Given the description of an element on the screen output the (x, y) to click on. 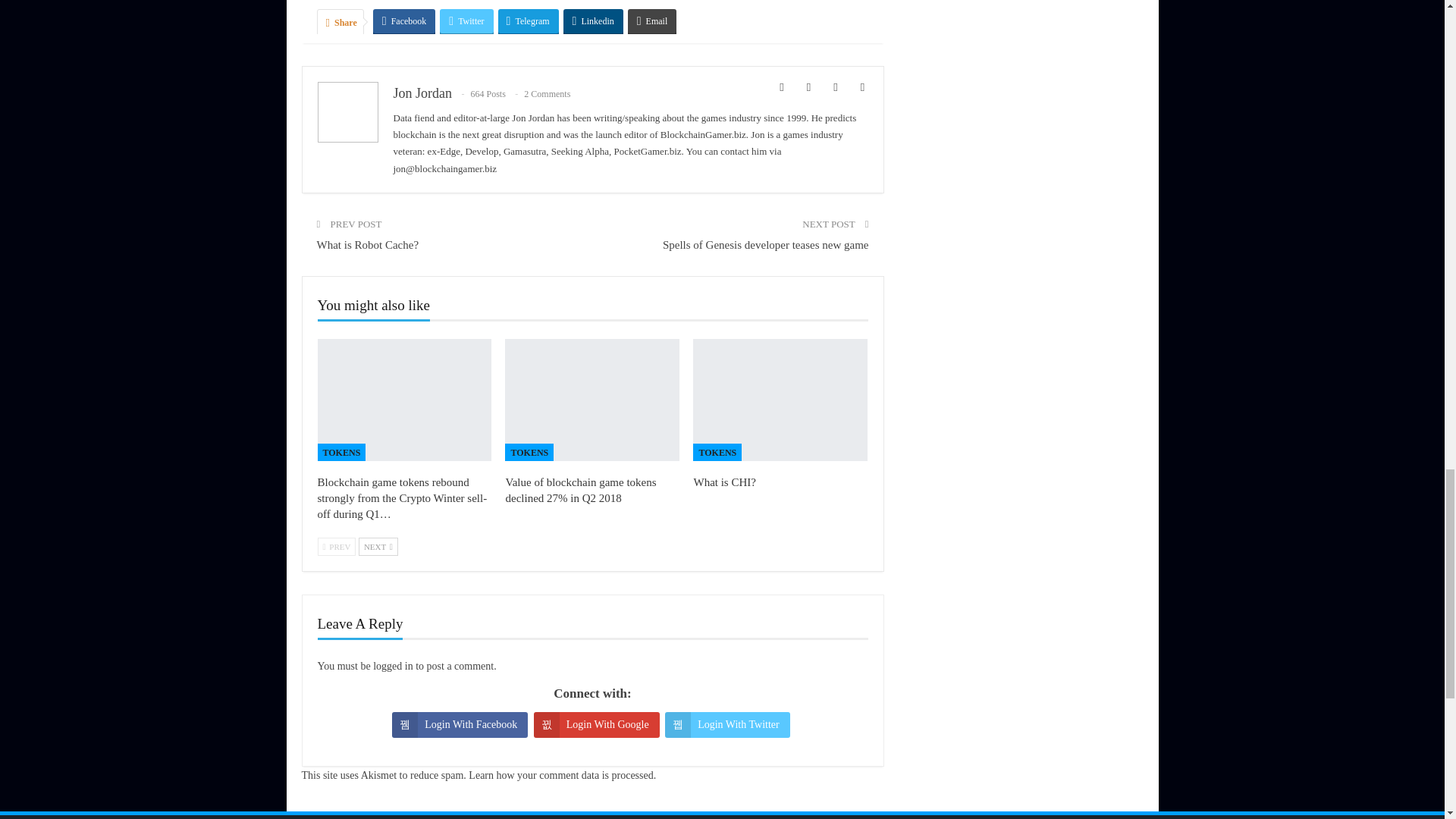
Twitter (466, 21)
Email (652, 21)
Linkedin (593, 21)
What is CHI? (780, 400)
What is CHI? (724, 481)
Previous (336, 546)
Next (377, 546)
Facebook (403, 21)
Telegram (528, 21)
